Given the description of an element on the screen output the (x, y) to click on. 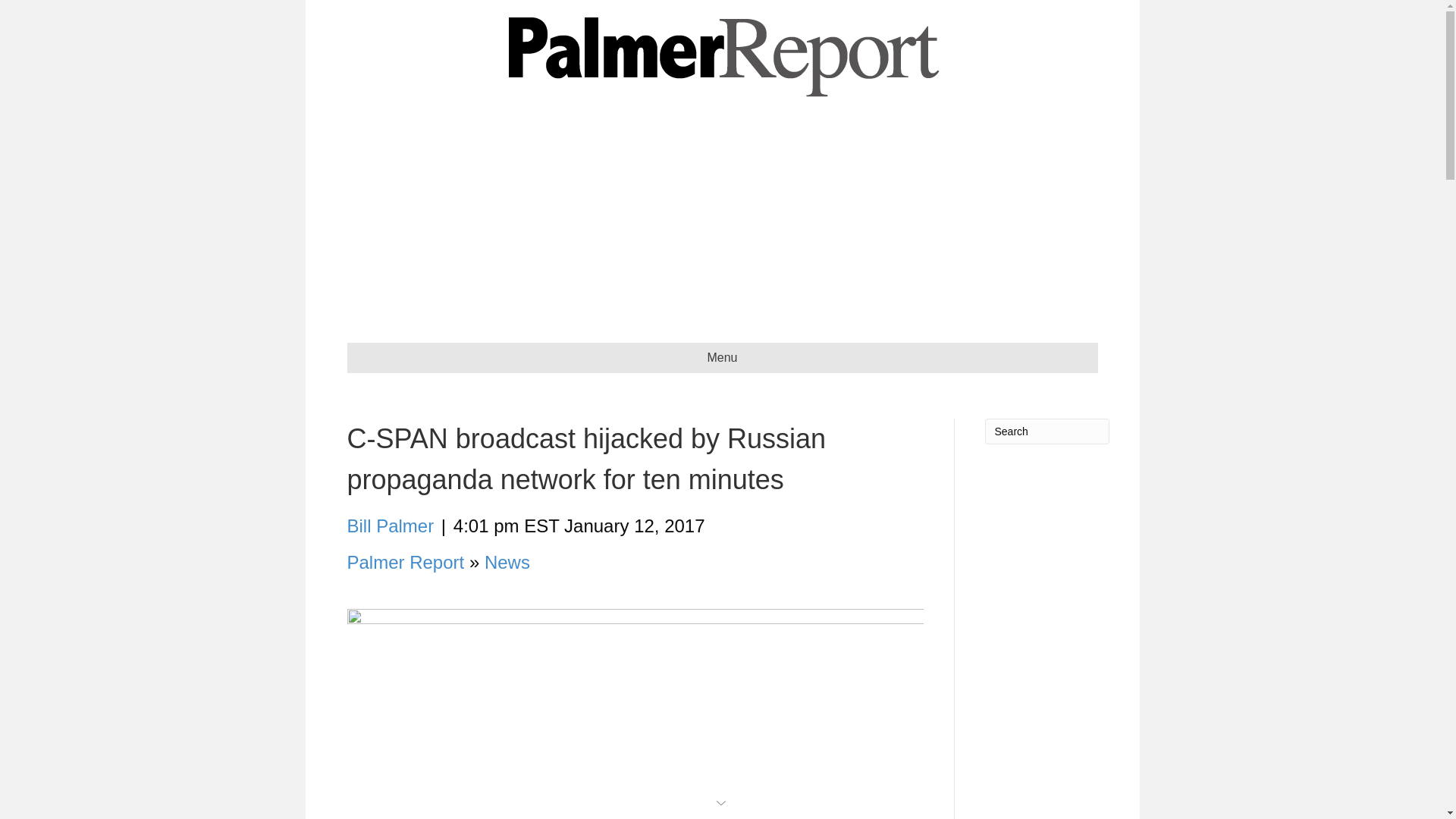
Posts by Bill Palmer (390, 525)
Search (1046, 431)
Ad.Plus Advertising (722, 801)
Search (1046, 431)
Menu (722, 358)
Bill Palmer (390, 525)
News (506, 562)
Palmer Report (405, 562)
Type and press Enter to search. (1046, 431)
